Given the description of an element on the screen output the (x, y) to click on. 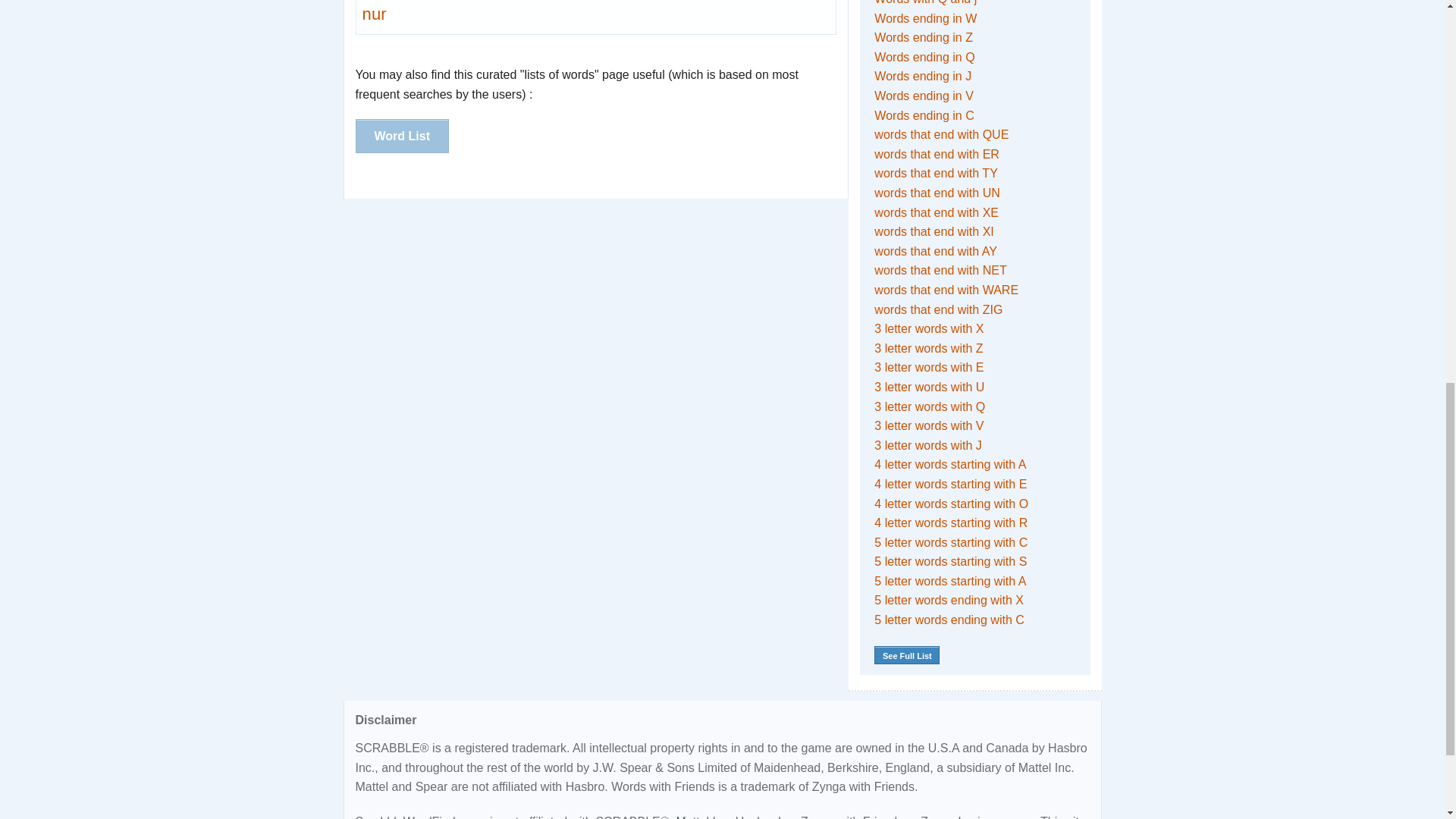
Lookup nur in Dictionary (374, 13)
nur (374, 13)
Word List (401, 135)
